Given the description of an element on the screen output the (x, y) to click on. 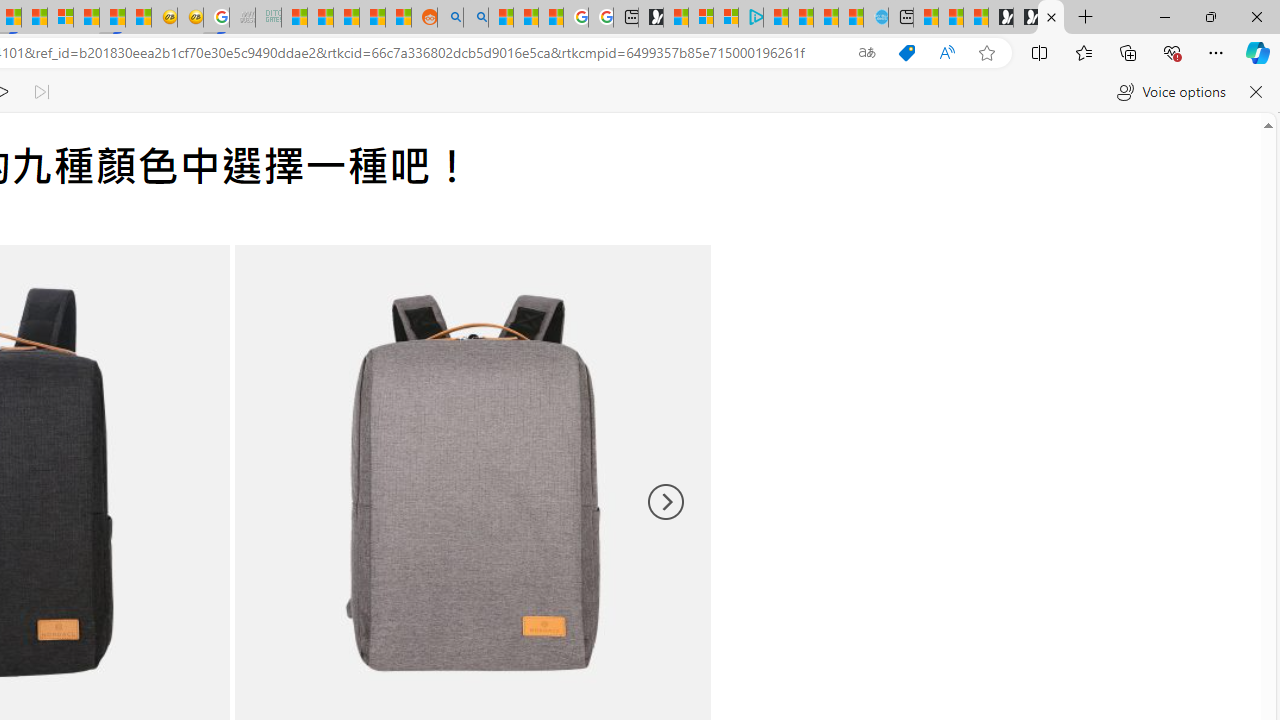
MSN (112, 17)
Add this page to favorites (Ctrl+D) (986, 53)
Class: flickity-button-icon (664, 502)
Microsoft account | Privacy (726, 17)
Show translate options (867, 53)
New tab (900, 17)
New Tab (1085, 17)
Favorites (1083, 52)
Settings and more (Alt+F) (1215, 52)
Minimize (1164, 16)
Copilot (Ctrl+Shift+.) (1258, 52)
